Given the description of an element on the screen output the (x, y) to click on. 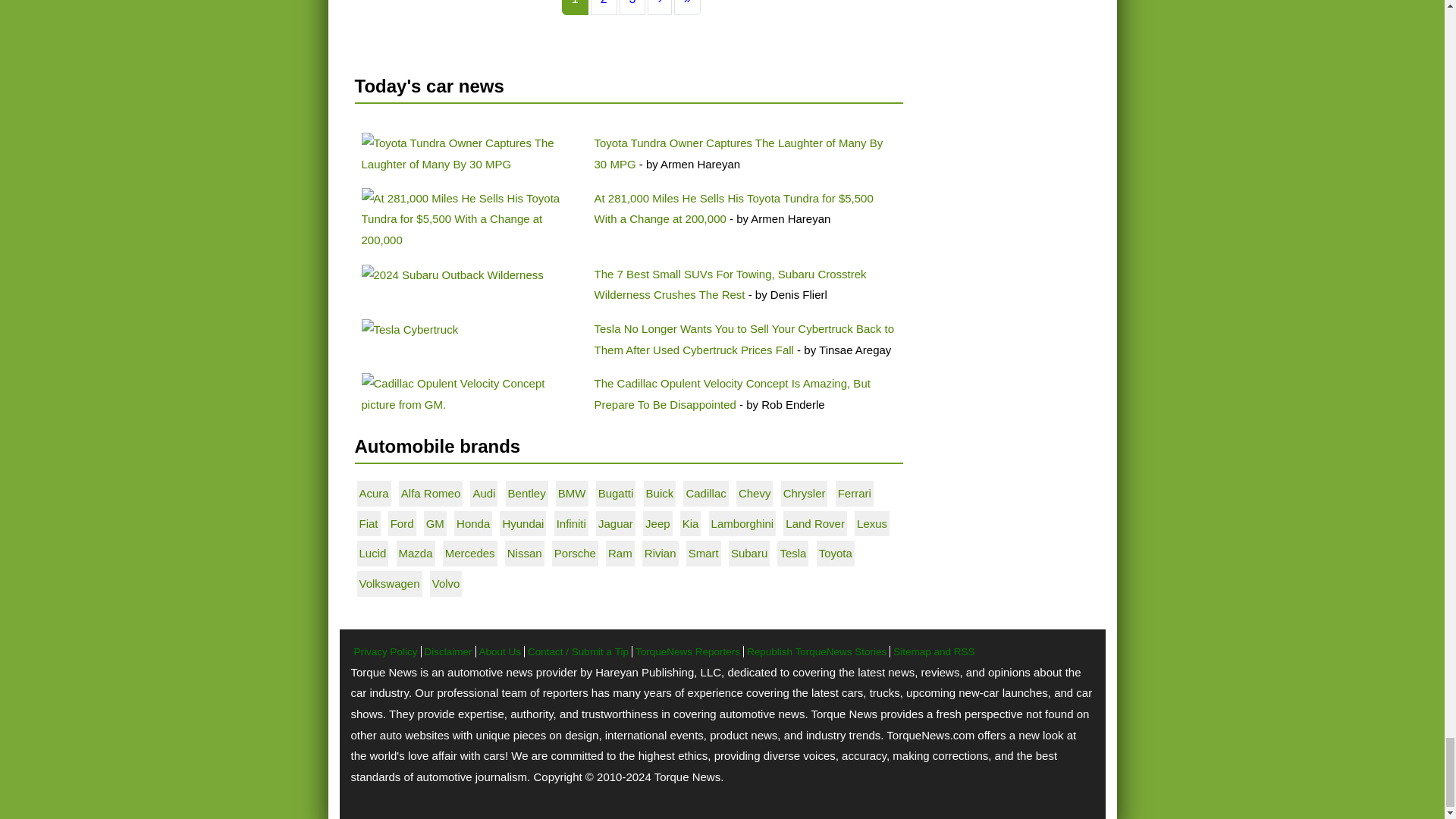
2024 Subaru Outback Wilderness towing a trailer (452, 274)
Go to next page (659, 7)
Toyota Tundra Owner Captures The Laughter of Many By 30 MPG (470, 153)
Go to last page (687, 7)
